Given the description of an element on the screen output the (x, y) to click on. 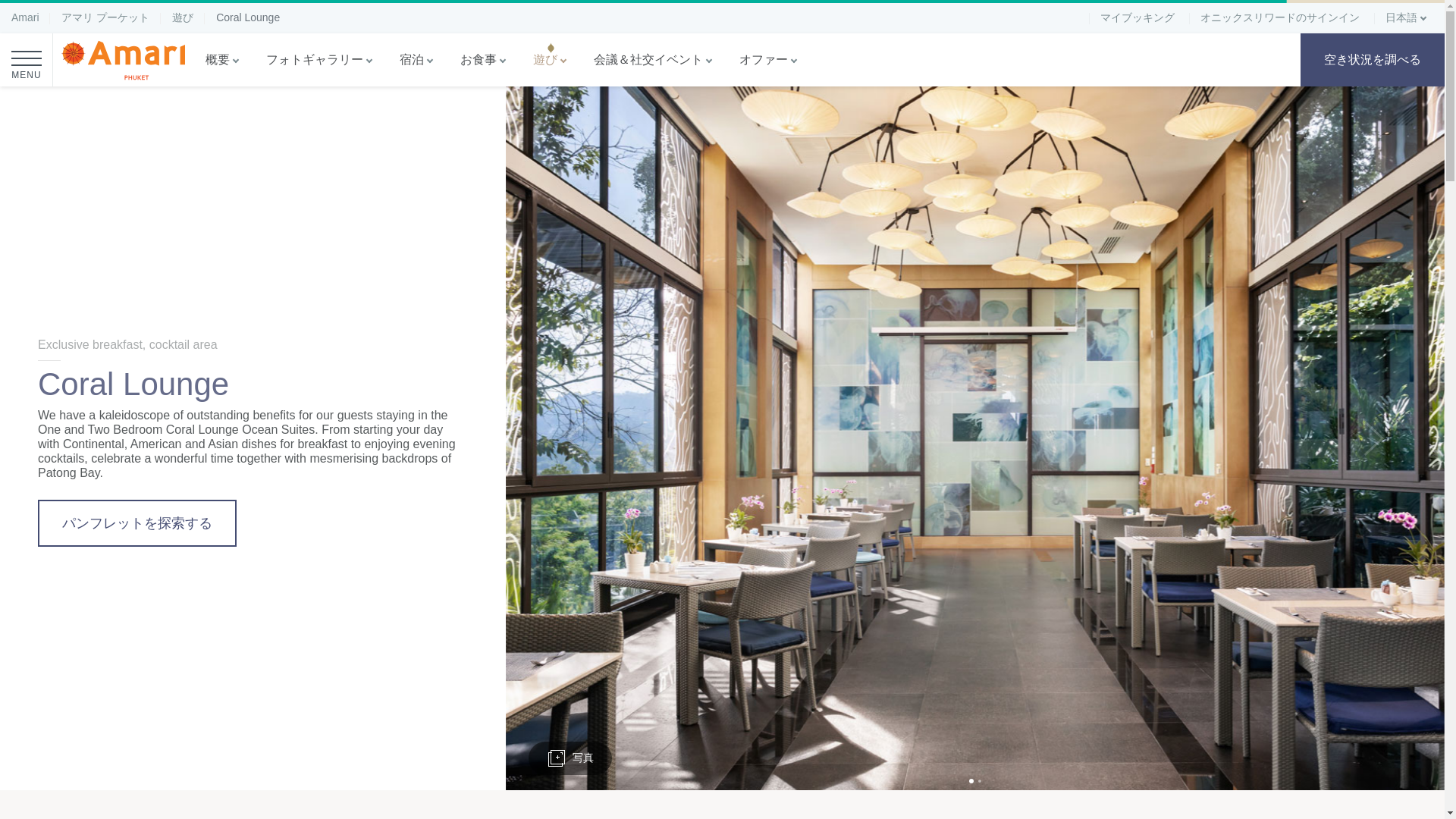
Select your language (1407, 17)
Amari (25, 17)
Menu (26, 59)
MENU (26, 59)
